Given the description of an element on the screen output the (x, y) to click on. 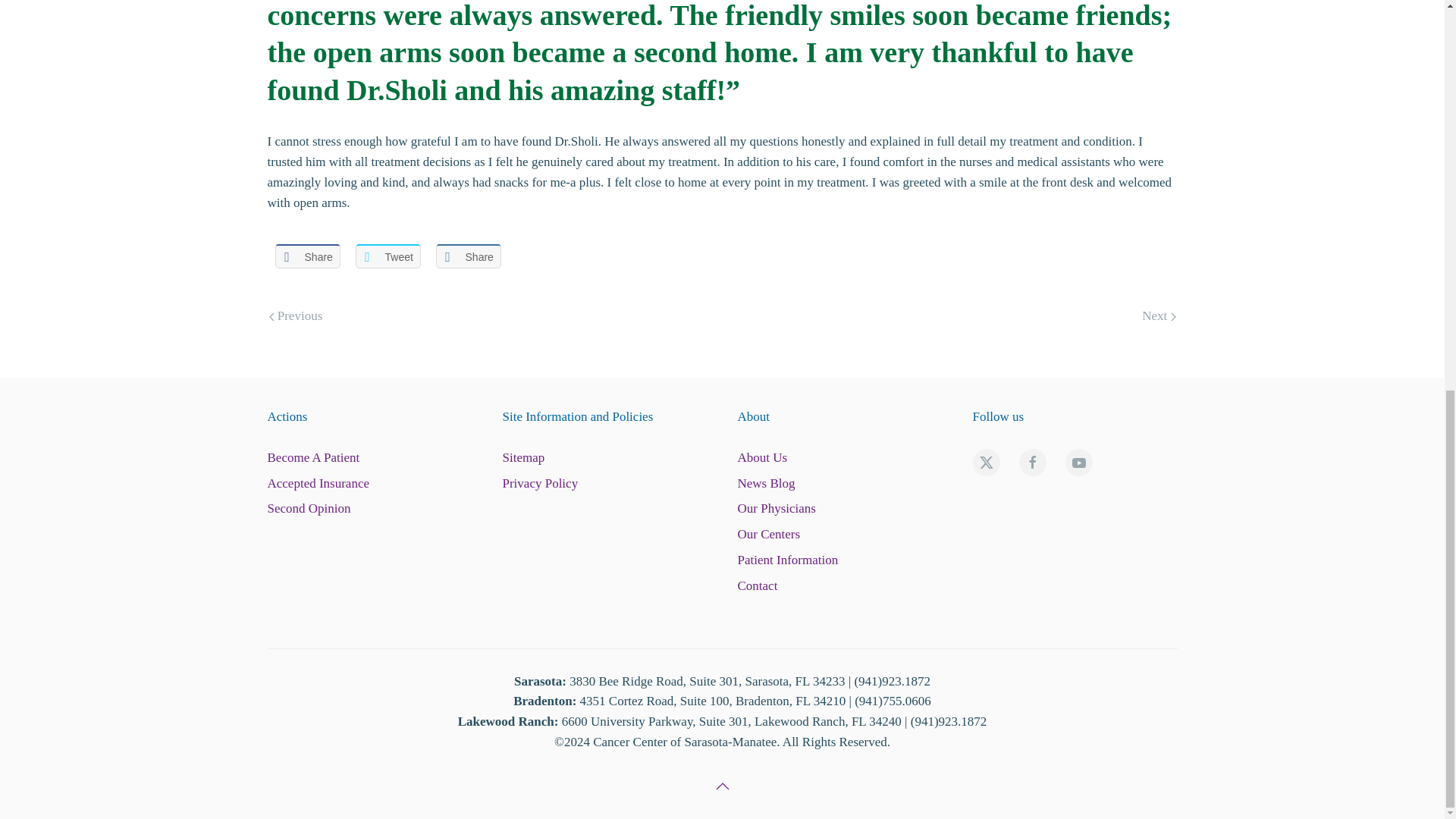
Share on Facebook (307, 256)
Share on LinkedIn (467, 256)
Back to top (721, 785)
Share on Twitter (387, 256)
